Given the description of an element on the screen output the (x, y) to click on. 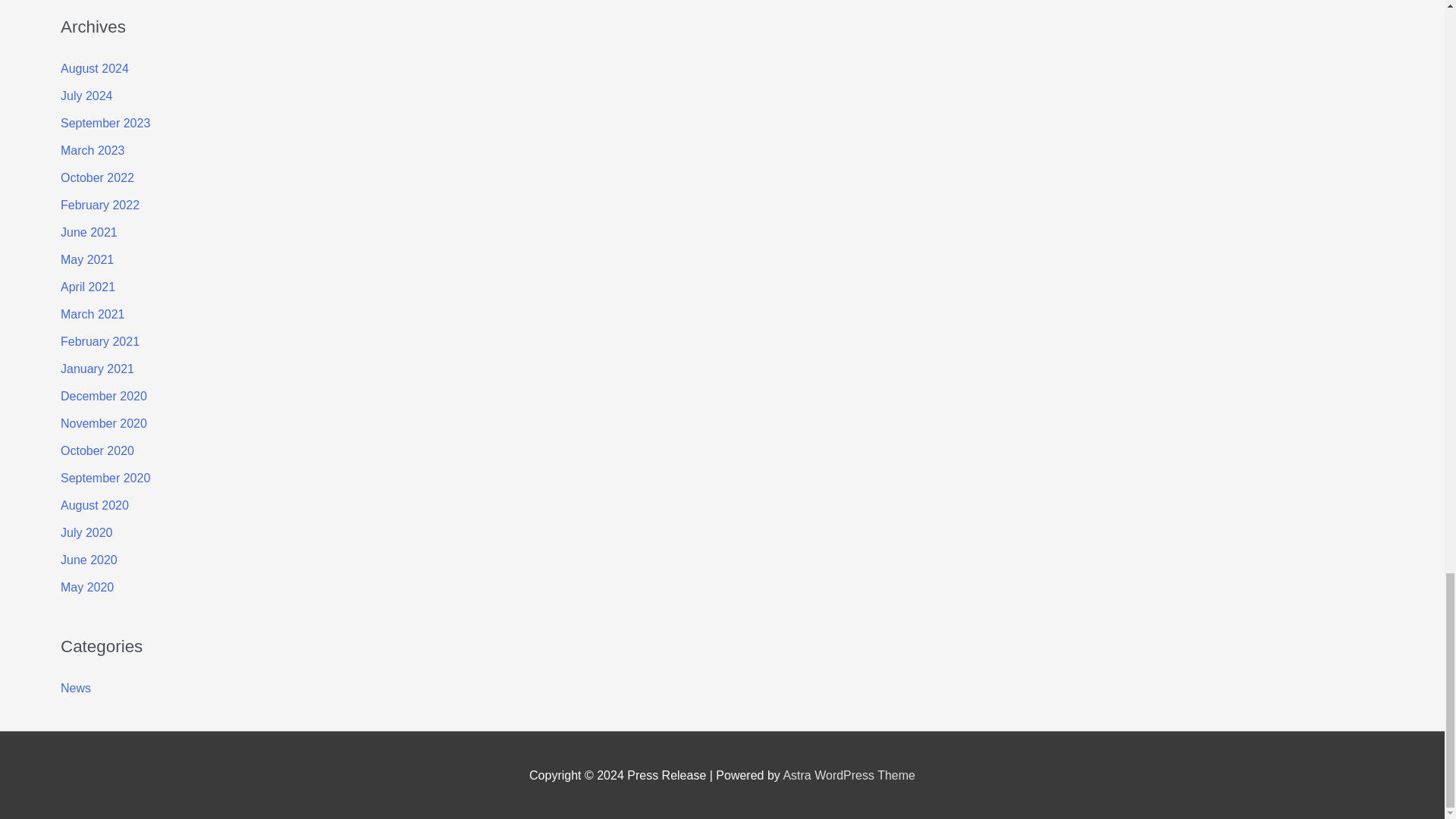
October 2022 (97, 177)
March 2023 (93, 150)
November 2020 (104, 422)
February 2022 (100, 205)
December 2020 (104, 395)
June 2021 (89, 232)
February 2021 (100, 341)
August 2024 (95, 68)
September 2023 (105, 123)
March 2021 (93, 314)
